Given the description of an element on the screen output the (x, y) to click on. 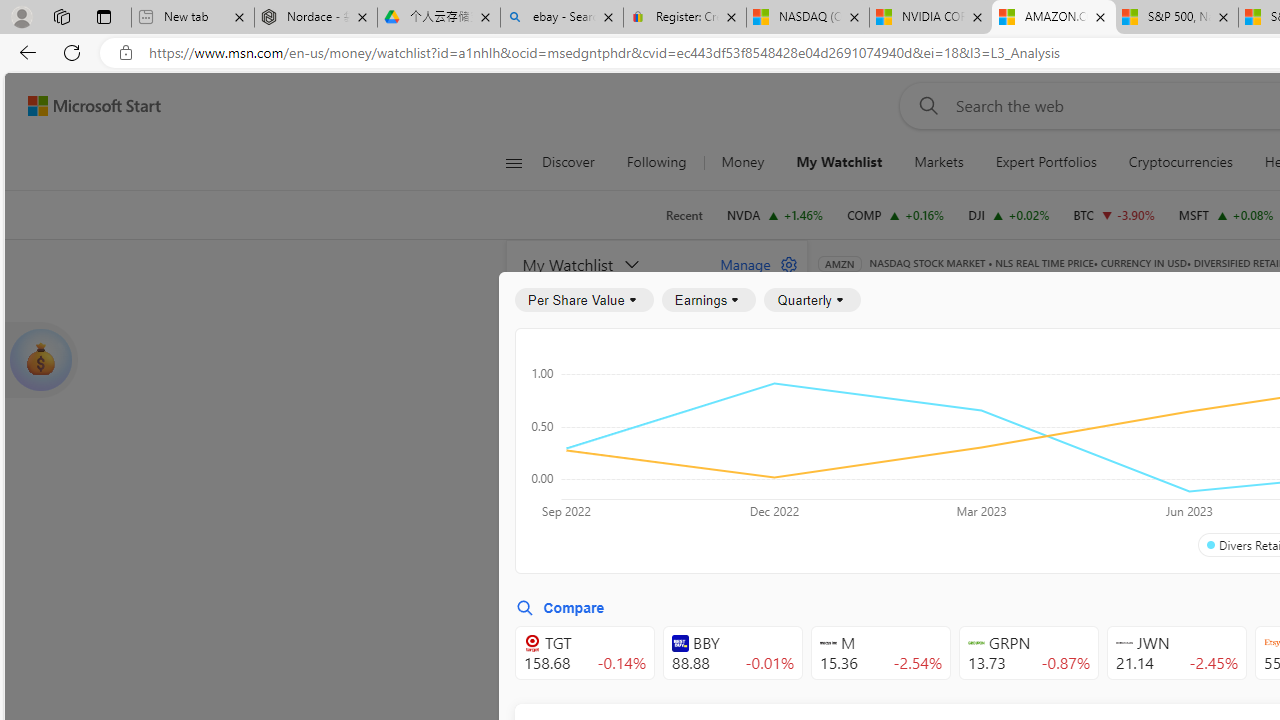
Refresh (72, 52)
Close tab (1222, 16)
NVDA NVIDIA CORPORATION increase 128.30 +1.84 +1.46% (774, 214)
Following (656, 162)
My Watchlist (610, 264)
Money (742, 162)
BTC Bitcoin decrease 59,996.99 -2,337.48 -3.90% (1114, 214)
Tab actions menu (104, 16)
Per Share Values (934, 445)
DJI DOW increase 41,250.50 +9.98 +0.02% (1009, 214)
Cryptocurrencies (1180, 162)
Microsoft Start (94, 105)
New tab - Sleeping (192, 17)
